Given the description of an element on the screen output the (x, y) to click on. 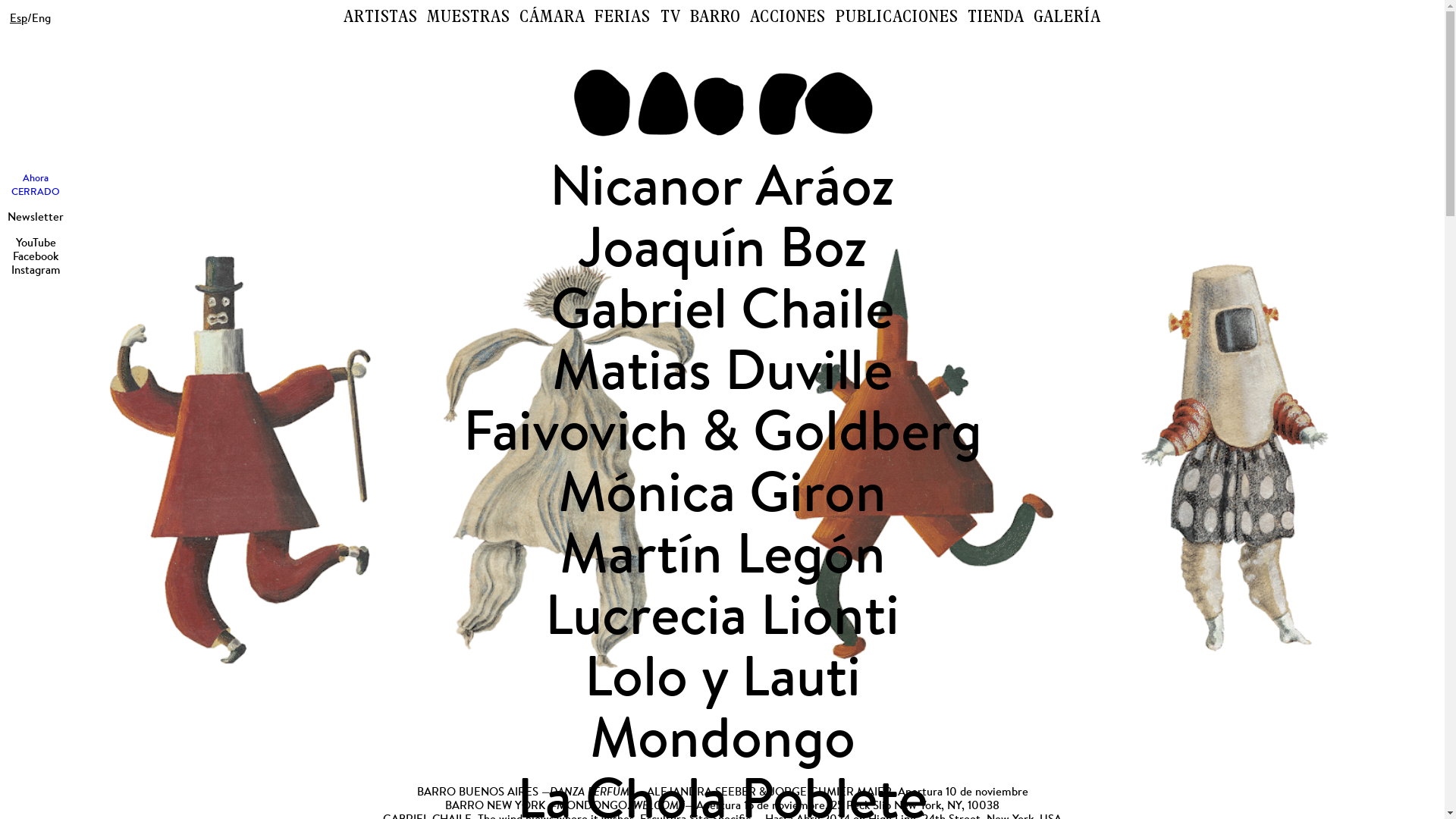
Faivovich & Goldberg Element type: text (721, 430)
YouTube Element type: text (35, 242)
TIENDA Element type: text (995, 18)
Lucrecia Lionti Element type: text (722, 615)
TV Element type: text (670, 18)
Matias Duville Element type: text (722, 370)
Newsletter Element type: text (35, 216)
MUESTRAS Element type: text (468, 18)
PUBLICACIONES Element type: text (896, 18)
Lolo y Lauti Element type: text (721, 676)
Mondongo Element type: text (722, 737)
Eng Element type: text (40, 18)
ACCIONES Element type: text (787, 18)
BARRO Element type: text (715, 18)
FERIAS Element type: text (622, 18)
Gabriel Chaile Element type: text (722, 308)
Facebook Element type: text (35, 255)
ARTISTAS Element type: text (379, 18)
Esp Element type: text (18, 18)
Instagram Element type: text (34, 269)
